Given the description of an element on the screen output the (x, y) to click on. 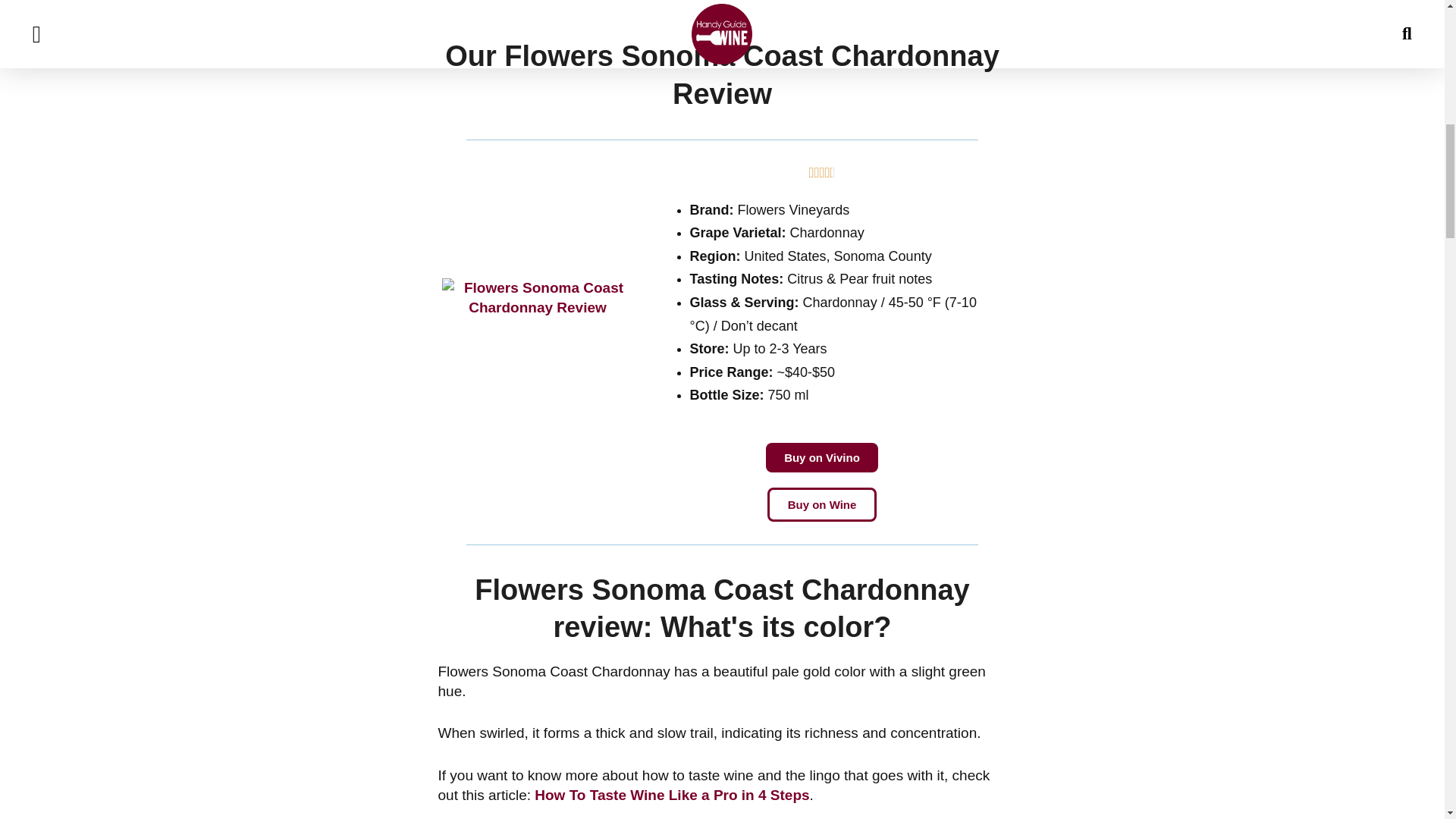
Flowers Sonoma Coast Chardonnay (537, 298)
How To Taste Wine Like a Pro in 4 Steps (671, 795)
Buy on Vivino (821, 457)
Buy on Wine (822, 504)
Flowers Sonoma Coast Chardonnay (822, 504)
